Given the description of an element on the screen output the (x, y) to click on. 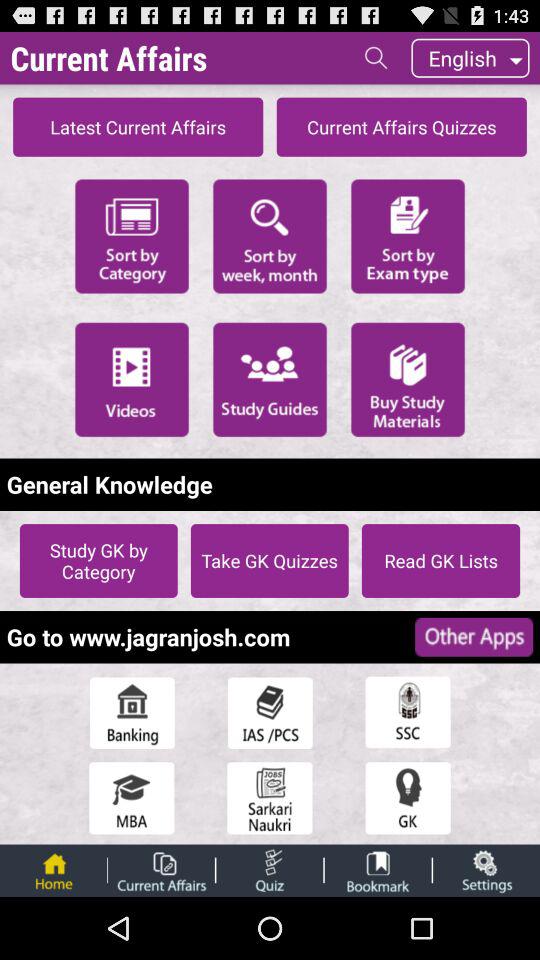
search (375, 57)
